Given the description of an element on the screen output the (x, y) to click on. 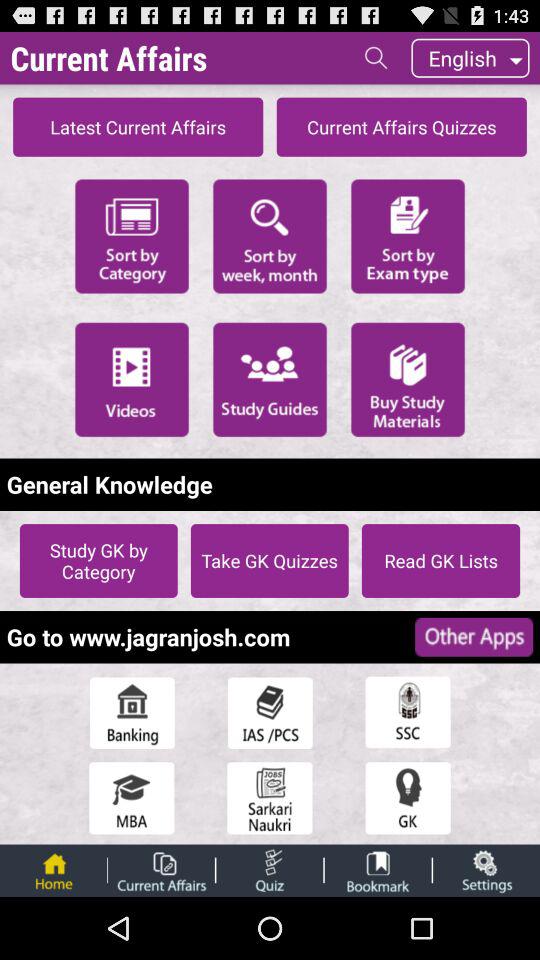
search (375, 57)
